Given the description of an element on the screen output the (x, y) to click on. 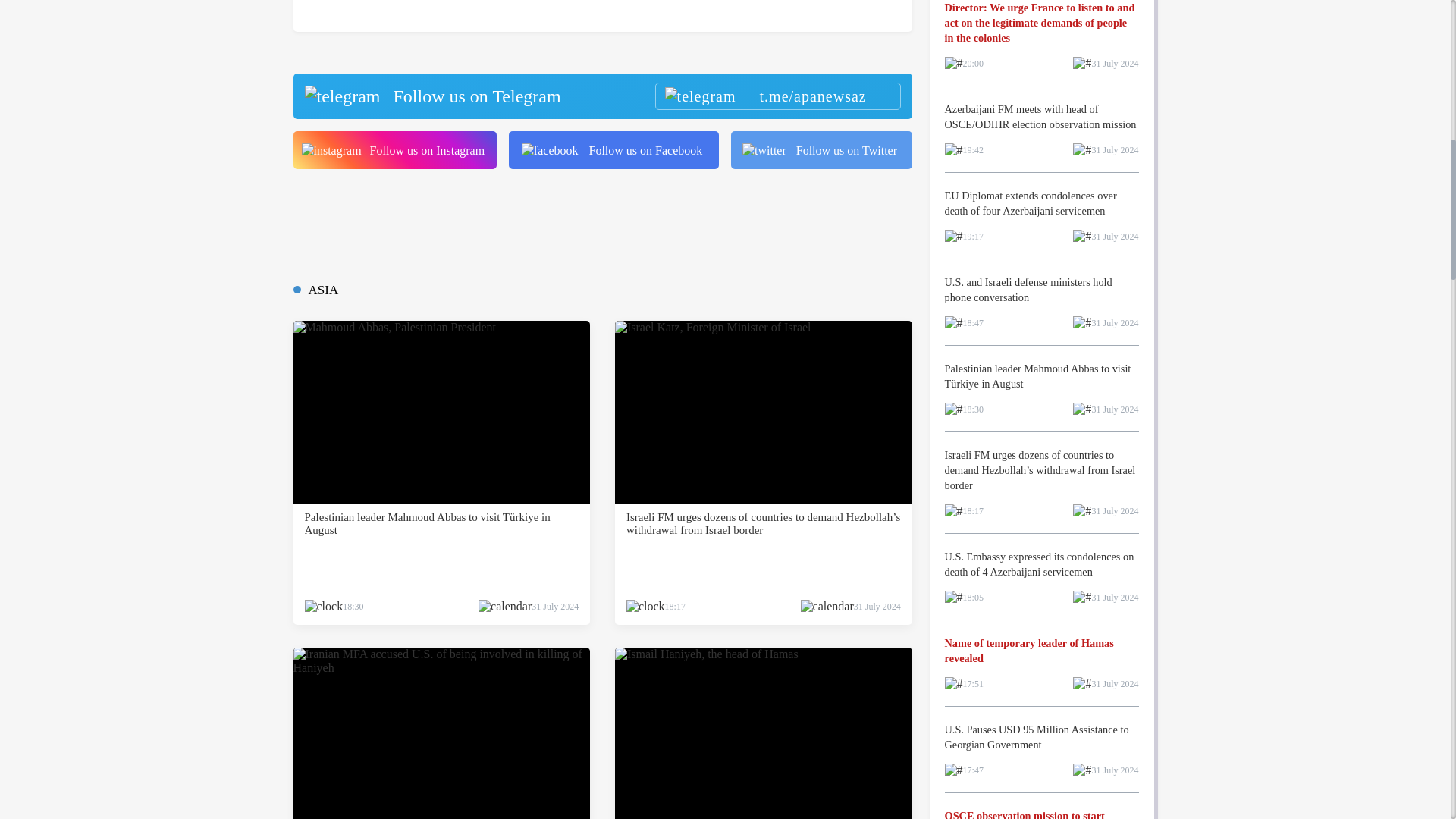
Follow us on Facebook (613, 149)
Follow us on Instagram (394, 149)
Follow us on Telegram (601, 95)
Follow us on Twitter (821, 149)
